Given the description of an element on the screen output the (x, y) to click on. 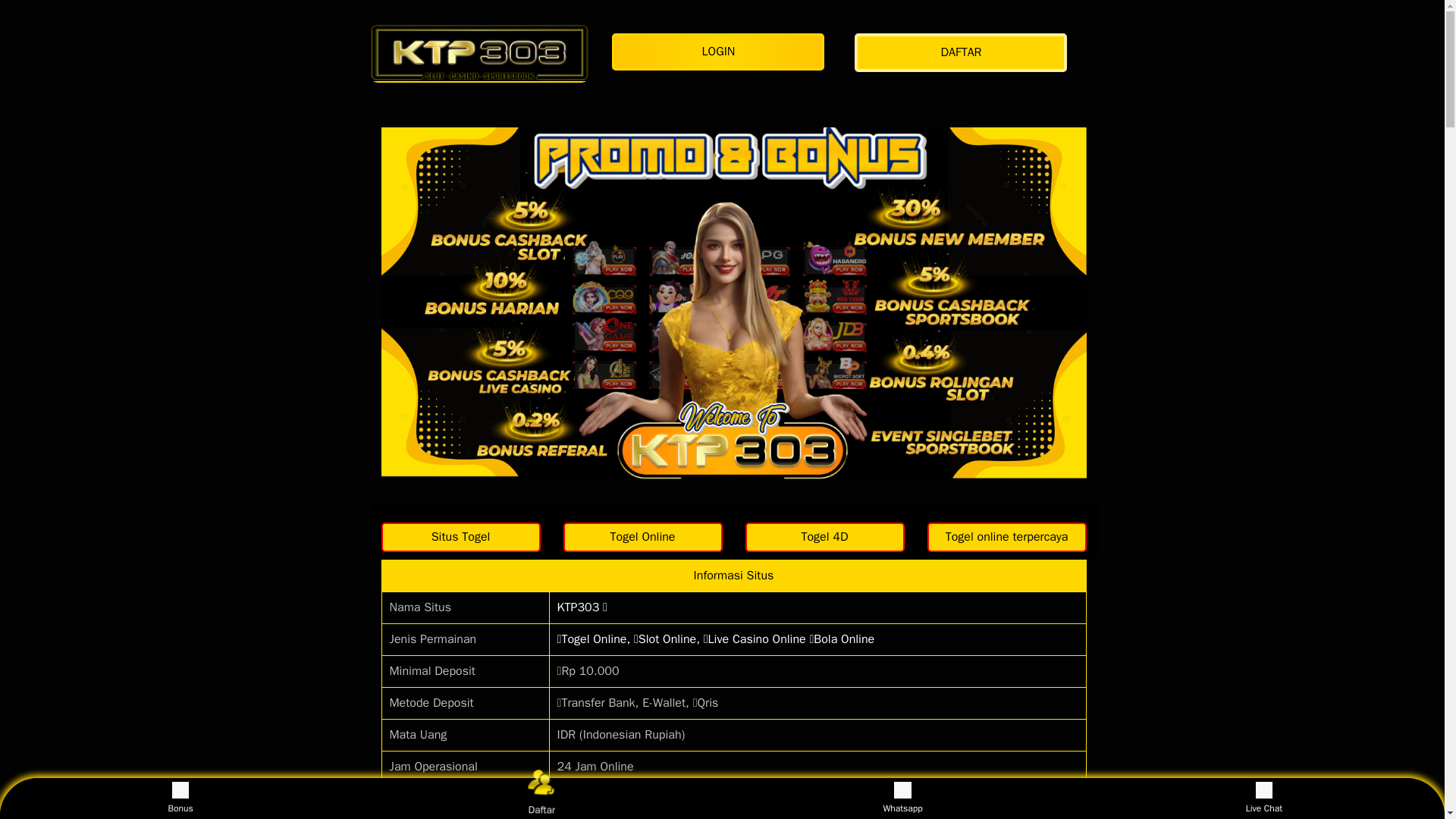
DAFTAR (964, 52)
Daftar (537, 795)
Whatsapp (903, 797)
Situs Togel (460, 537)
togel online terpercaya (1006, 537)
KTP303 (479, 52)
Togel 4D (824, 537)
Situs Togel (460, 537)
Live Chat (1263, 797)
Togel Terpercaya (824, 537)
Bonus (180, 797)
Togel Online (642, 537)
Togel Online (642, 537)
Togel online terpercaya (1006, 537)
LOGIN (721, 51)
